Given the description of an element on the screen output the (x, y) to click on. 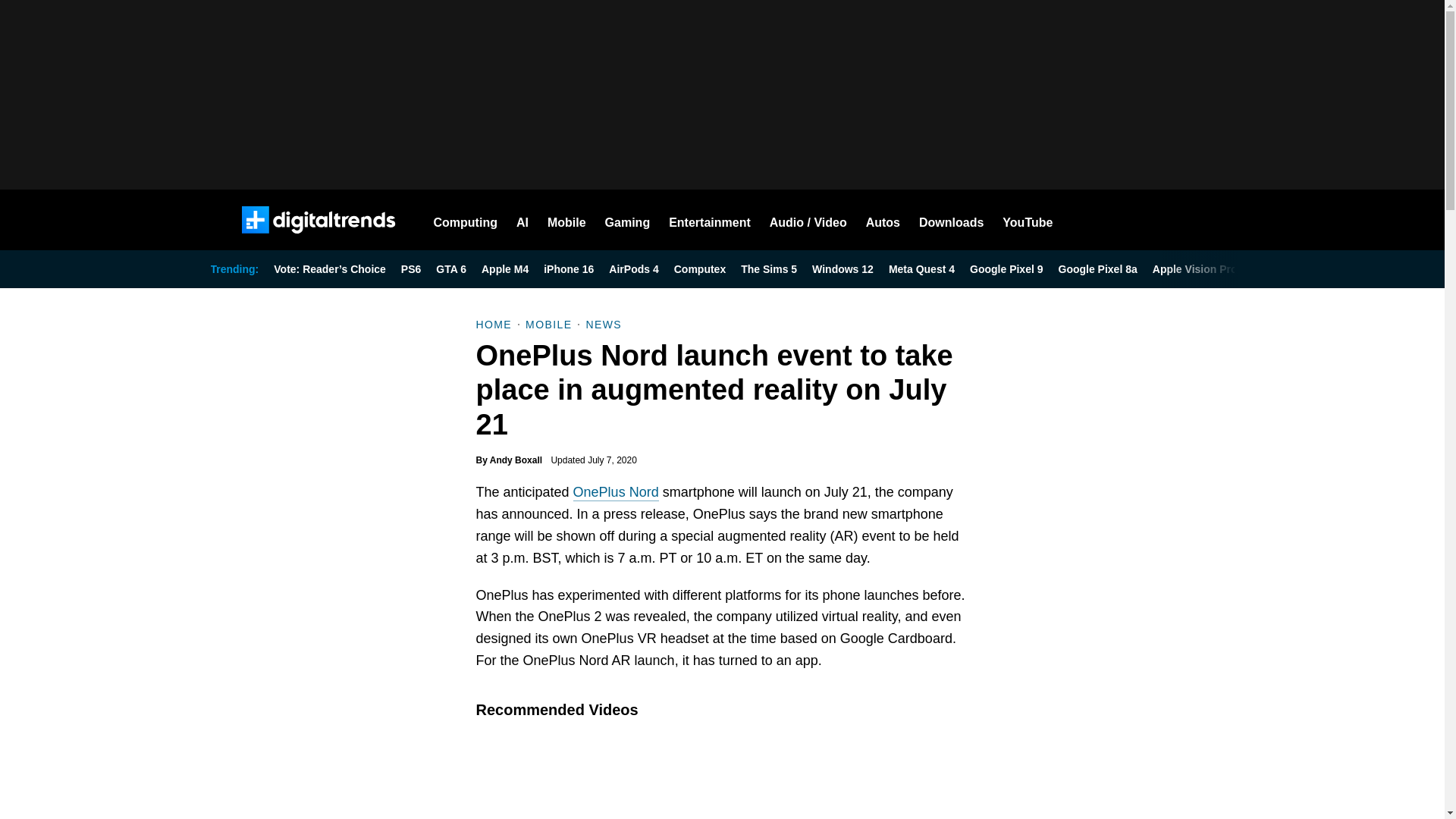
Downloads (951, 219)
Computing (465, 219)
Entertainment (709, 219)
